Given the description of an element on the screen output the (x, y) to click on. 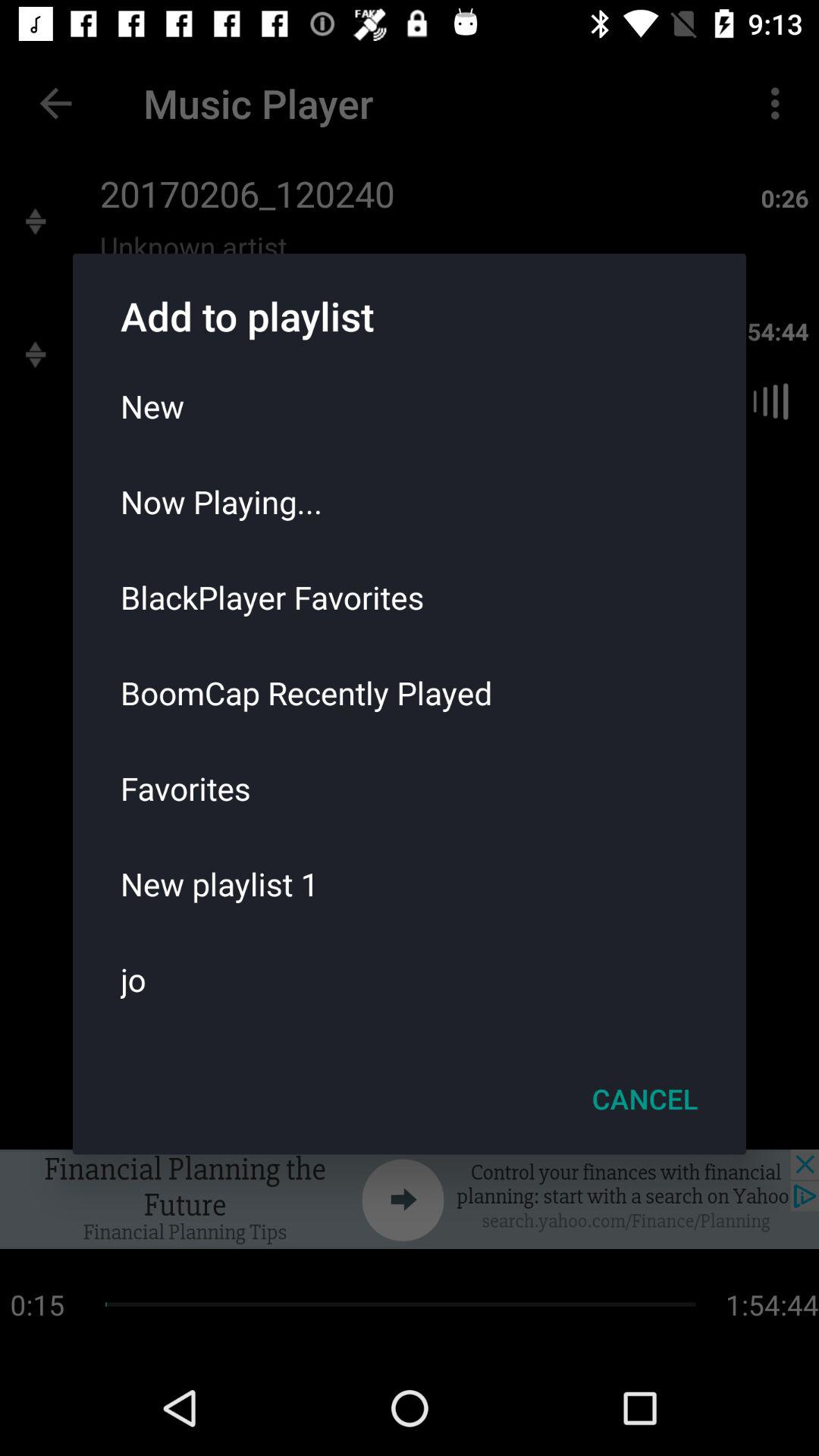
open the item below new icon (409, 501)
